Given the description of an element on the screen output the (x, y) to click on. 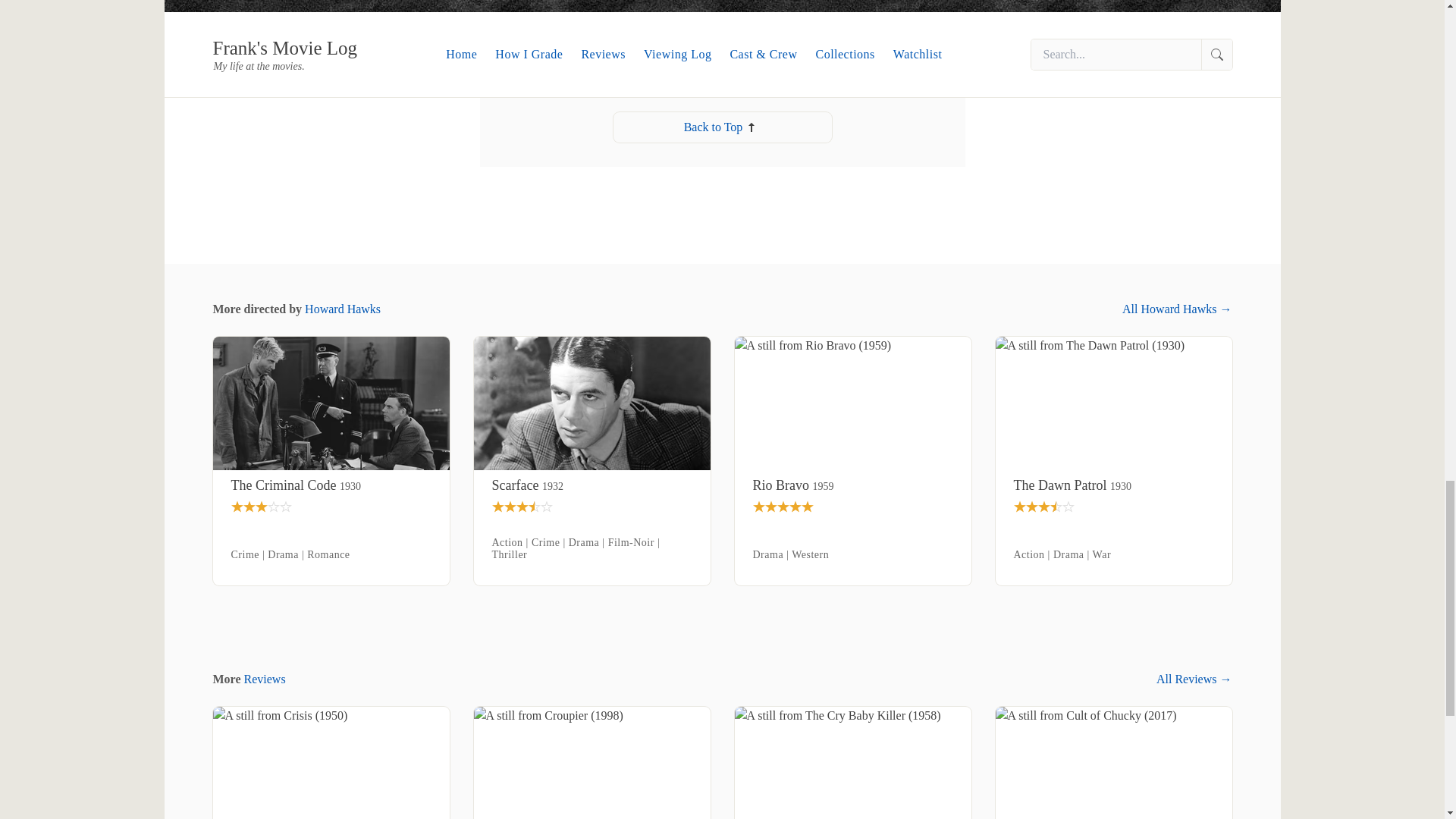
The Criminal Code 1930 (330, 484)
Back to Top (721, 127)
Howard Hawks (571, 66)
Rio Bravo 1959 (852, 484)
Reviews (264, 678)
Howard Hawks (342, 308)
Scarface 1932 (591, 484)
The Dawn Patrol 1930 (1112, 484)
